Given the description of an element on the screen output the (x, y) to click on. 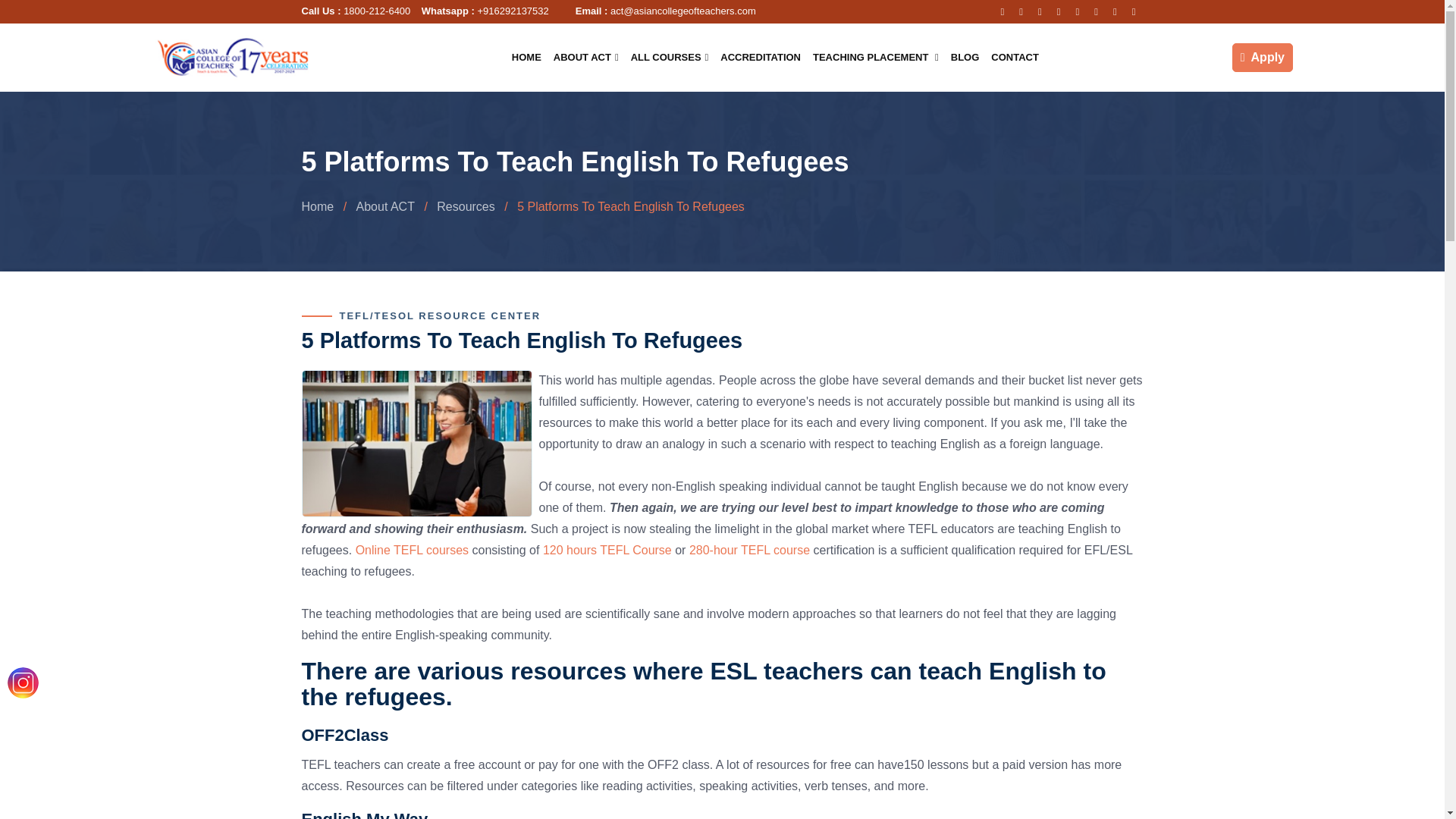
TEACHING PLACEMENT (875, 56)
120 hours TEFL Course (607, 549)
280-hour TEFL course (748, 549)
Online TEFL courses (411, 549)
About ACT (385, 205)
Apply (1261, 56)
ALL COURSES (669, 56)
ACCREDITATION (760, 56)
CONTACT (1015, 56)
Home (317, 205)
